Given the description of an element on the screen output the (x, y) to click on. 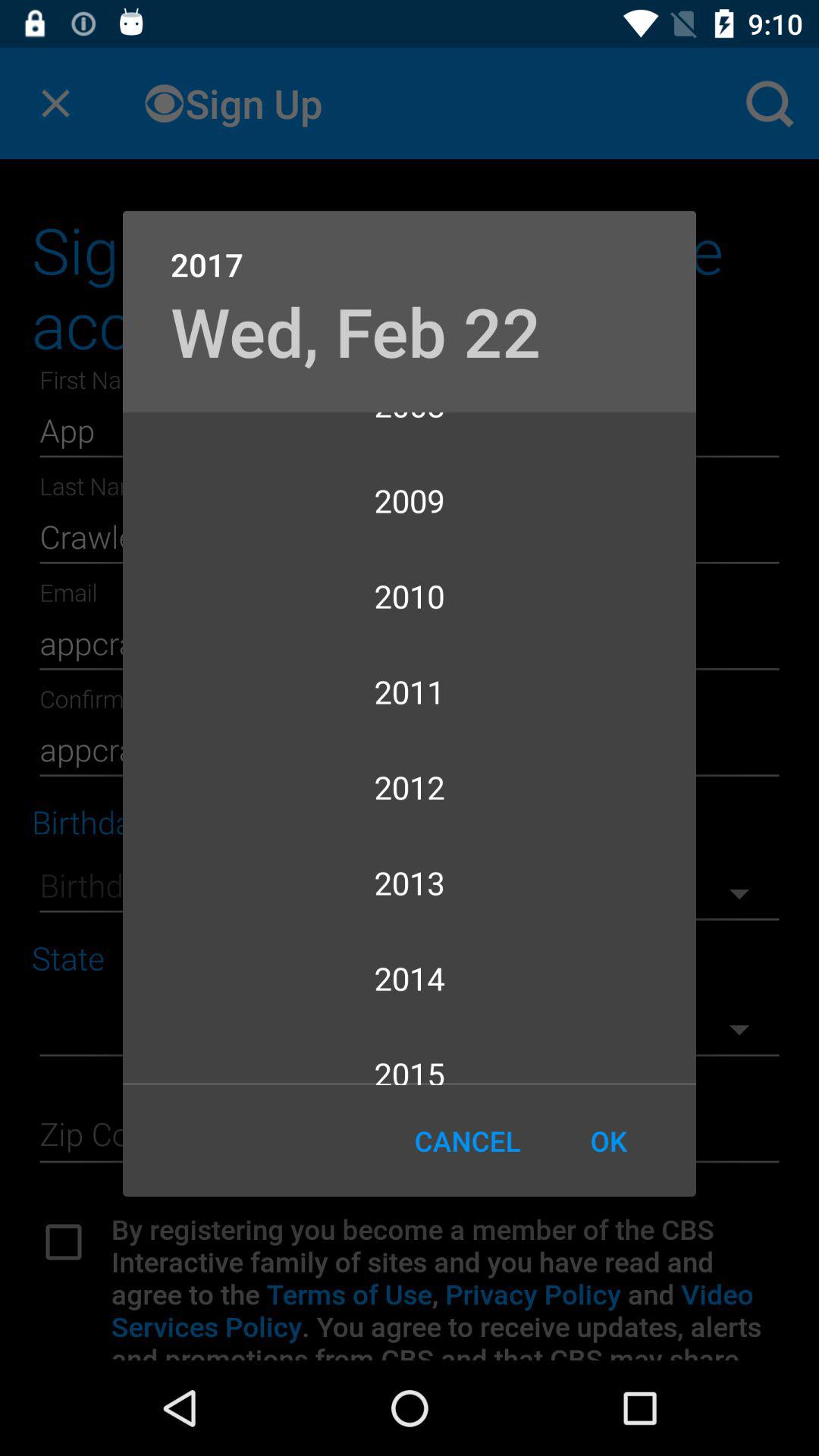
tap the ok item (608, 1140)
